Given the description of an element on the screen output the (x, y) to click on. 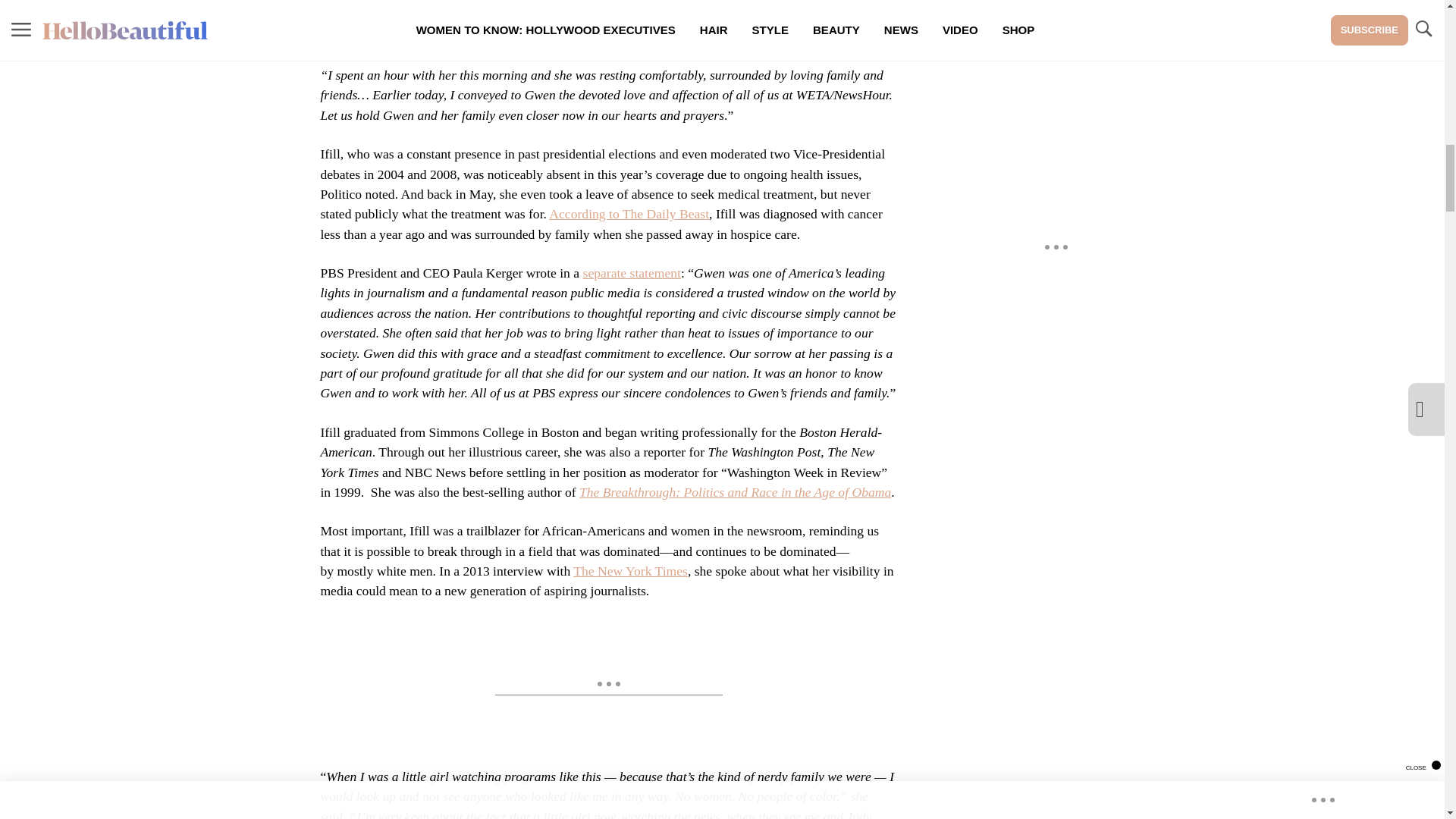
The New York Times (630, 570)
Media Playlist (990, 2)
separate statement (632, 272)
According to The Daily Beast (628, 213)
The Breakthrough: Politics and Race in the Age of Obama (735, 491)
